Given the description of an element on the screen output the (x, y) to click on. 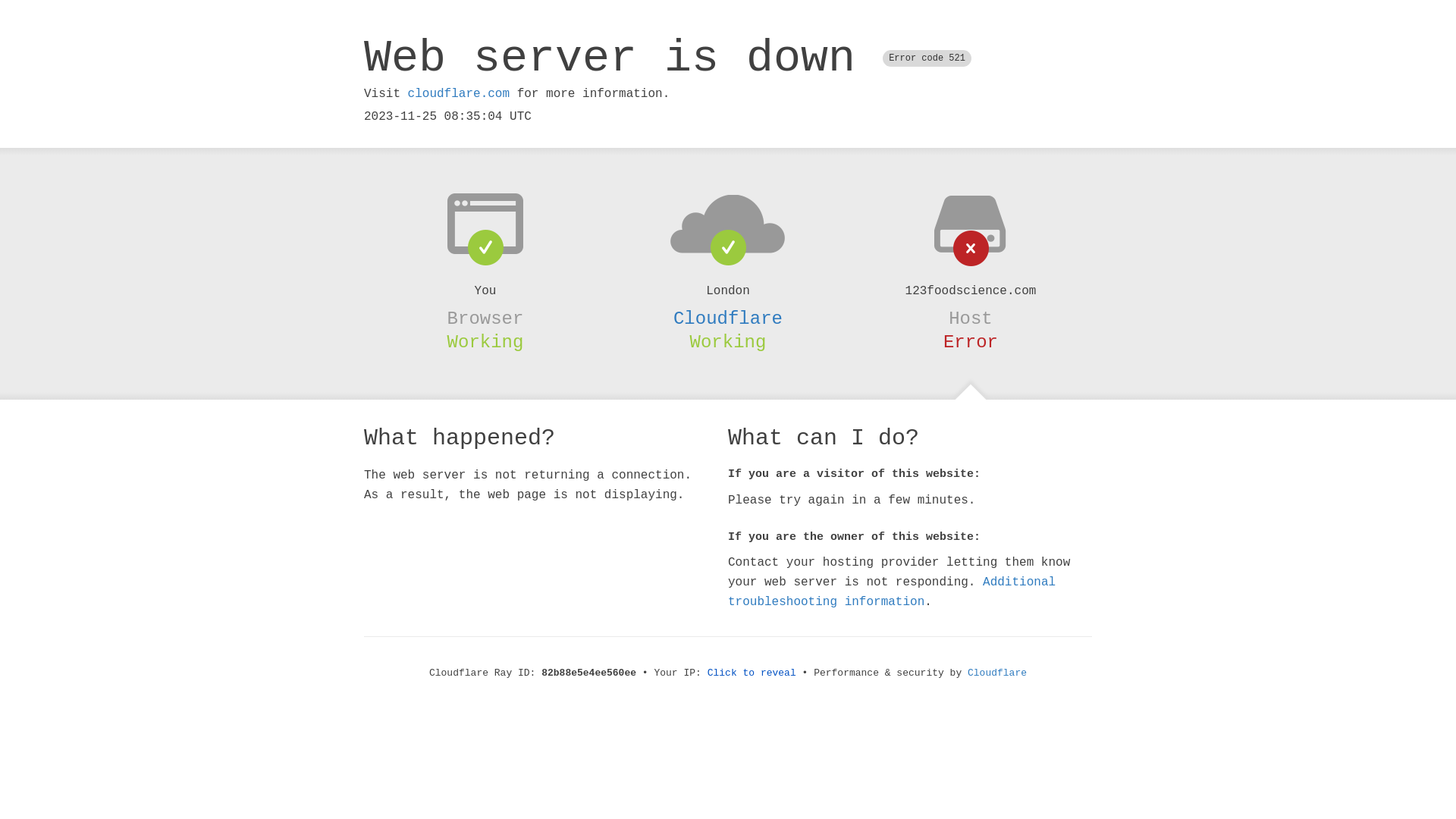
Additional troubleshooting information Element type: text (891, 591)
Cloudflare Element type: text (727, 318)
cloudflare.com Element type: text (458, 93)
Cloudflare Element type: text (996, 672)
Click to reveal Element type: text (751, 672)
